Given the description of an element on the screen output the (x, y) to click on. 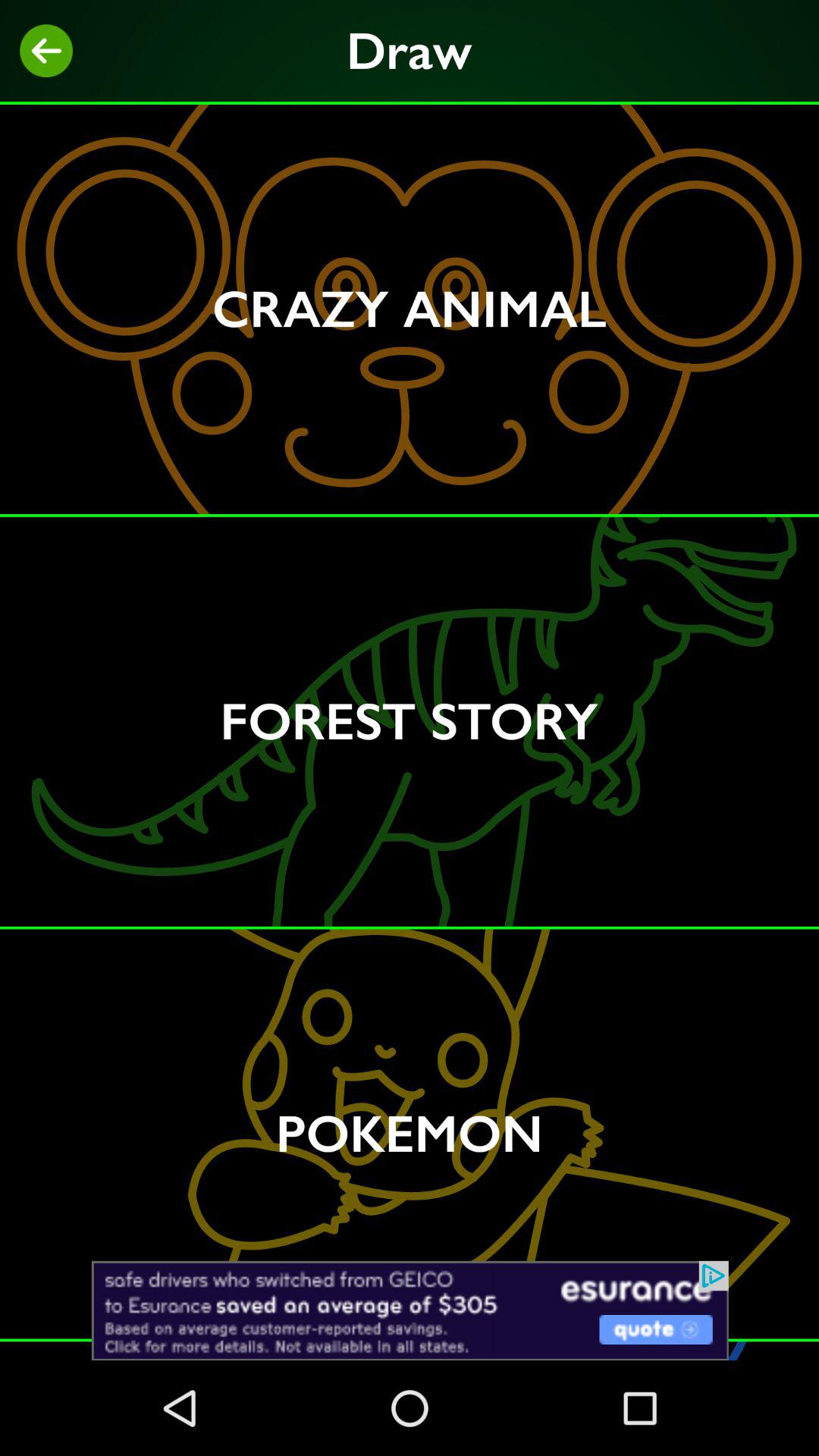
know about the advertisement (409, 1310)
